Given the description of an element on the screen output the (x, y) to click on. 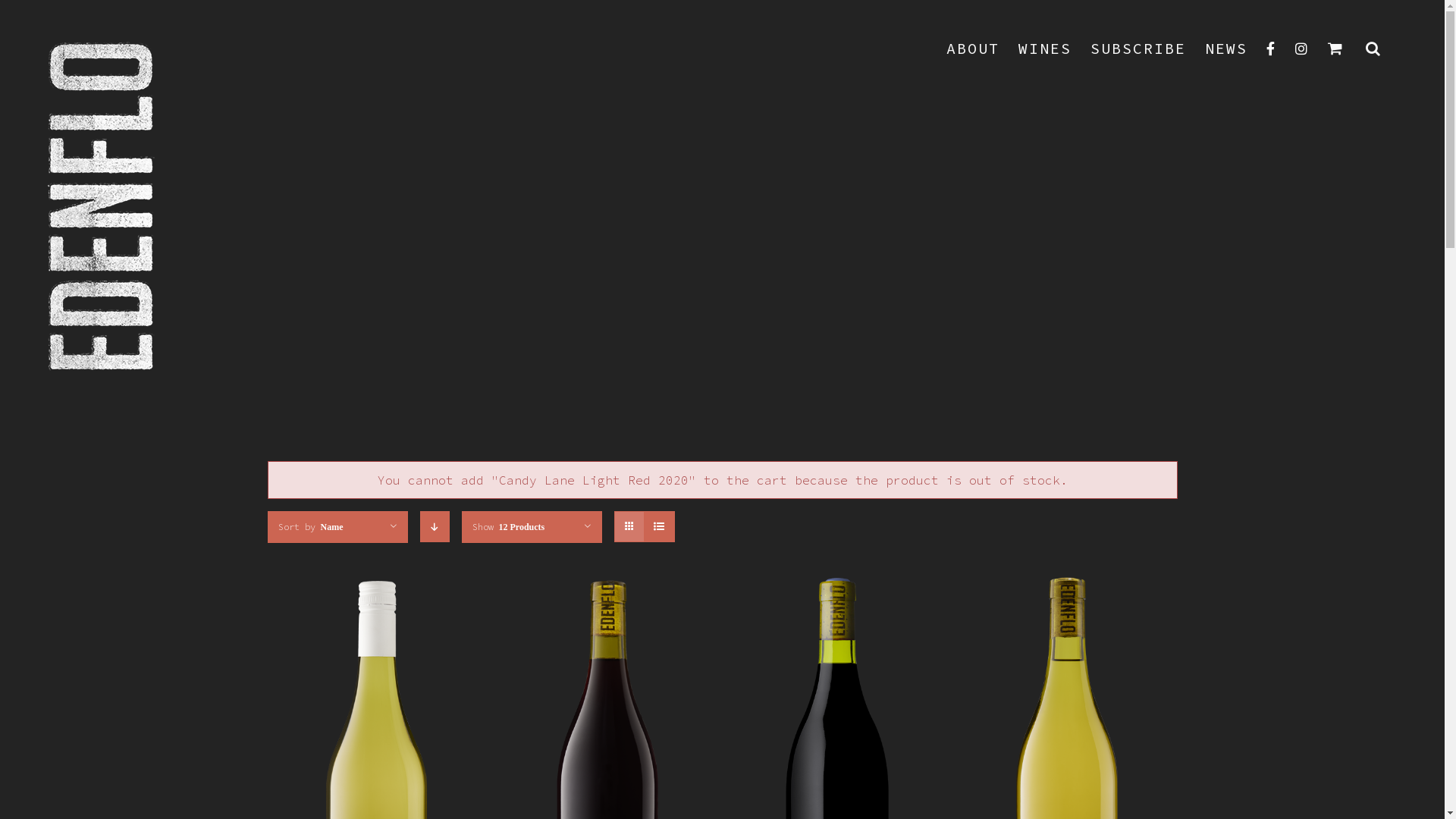
SUBSCRIBE Element type: text (1138, 48)
Sort by Name Element type: text (309, 526)
Search Element type: hover (1373, 48)
NEWS Element type: text (1225, 48)
Show 12 Products Element type: text (507, 526)
ABOUT Element type: text (972, 48)
WINES Element type: text (1044, 48)
